Given the description of an element on the screen output the (x, y) to click on. 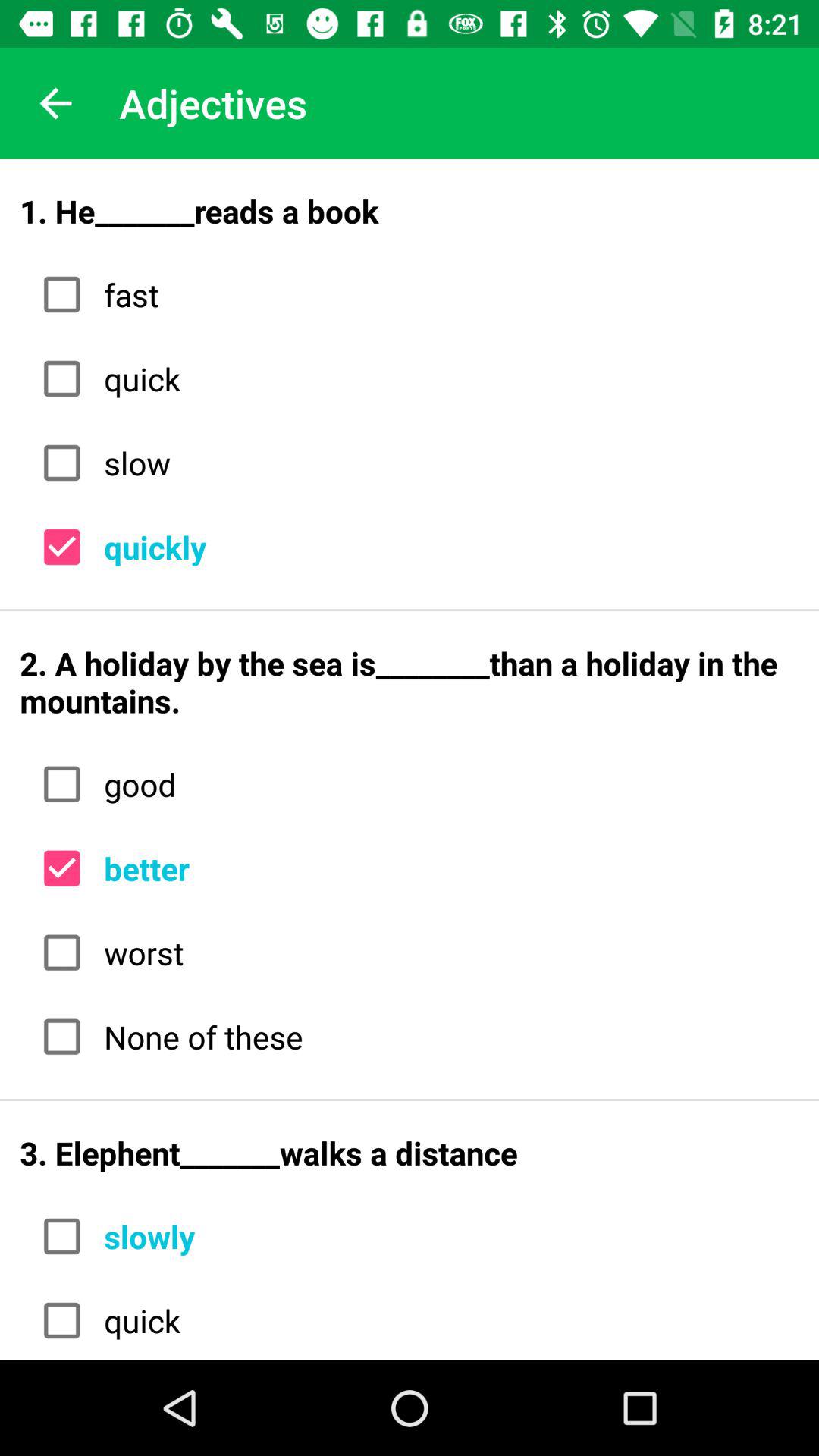
tap the icon above the 1 he_______reads a (55, 103)
